Given the description of an element on the screen output the (x, y) to click on. 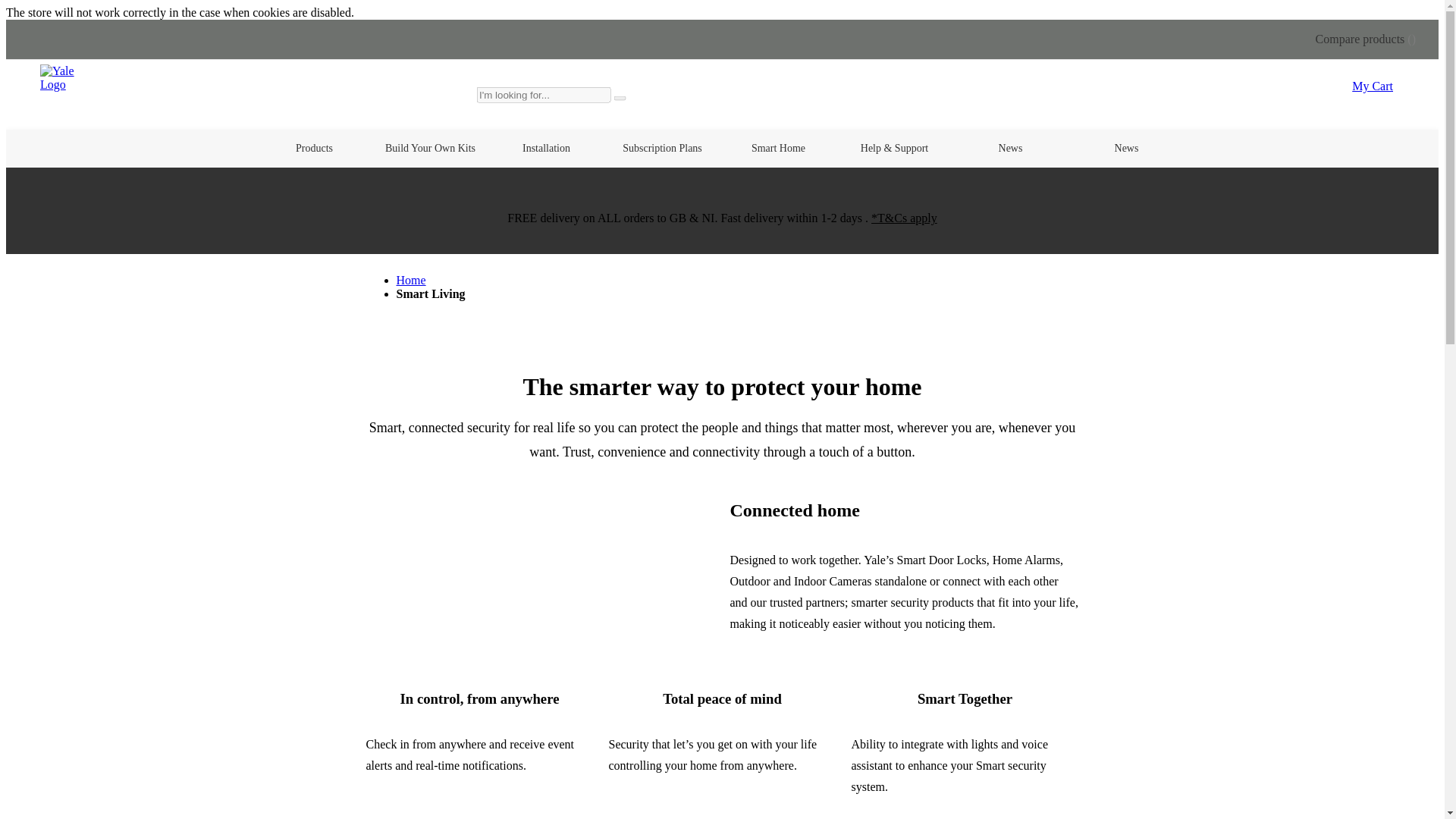
Yale Logo (70, 77)
Compare products (1365, 38)
Products (313, 148)
Products (313, 148)
Compare products (1365, 38)
Yale Logo (70, 94)
My Cart (1372, 85)
